Given the description of an element on the screen output the (x, y) to click on. 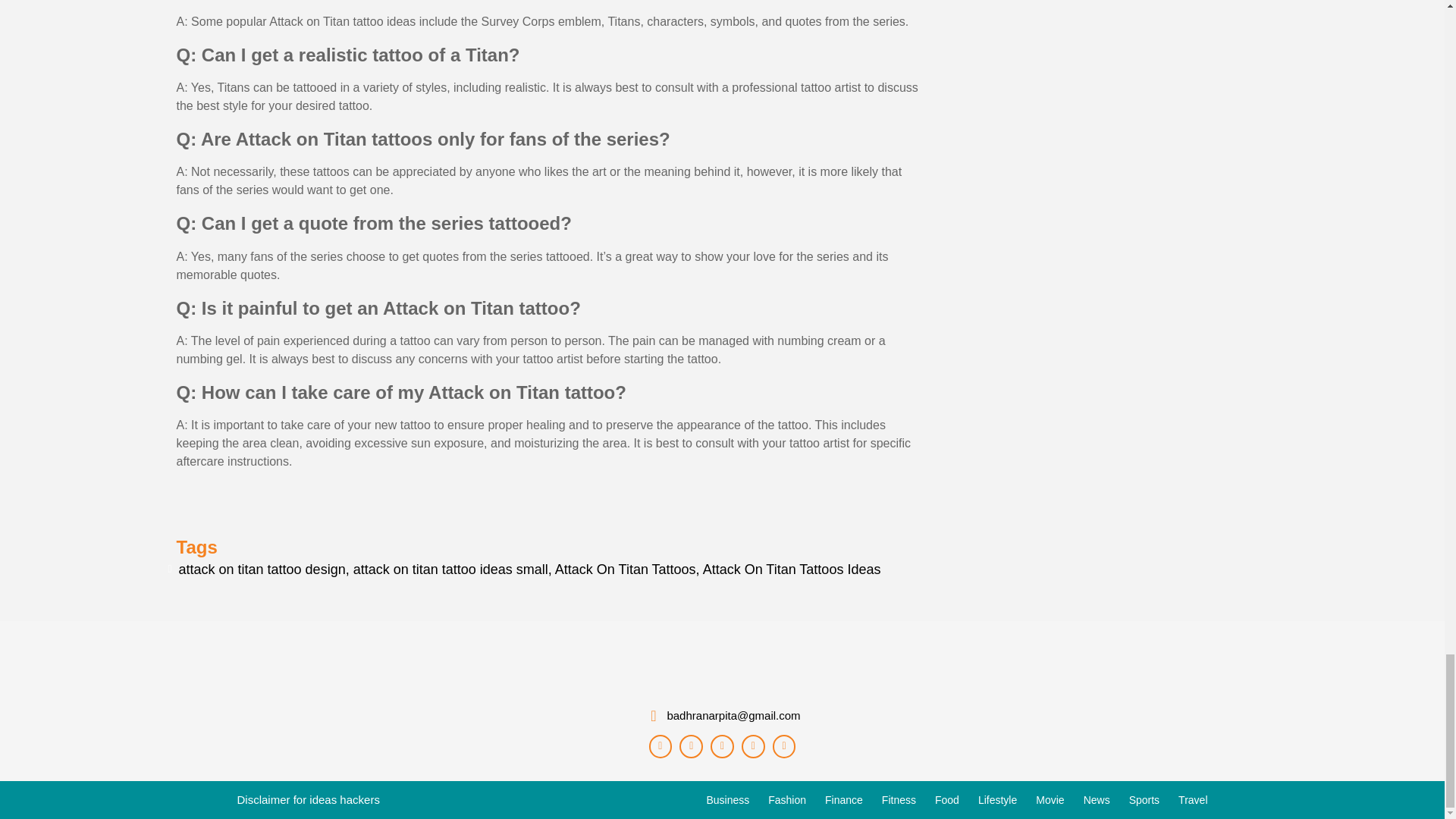
attack on titan tattoo design (262, 569)
Attack On Titan Tattoos Ideas (791, 569)
attack on titan tattoo ideas small (450, 569)
Attack On Titan Tattoos (624, 569)
